Given the description of an element on the screen output the (x, y) to click on. 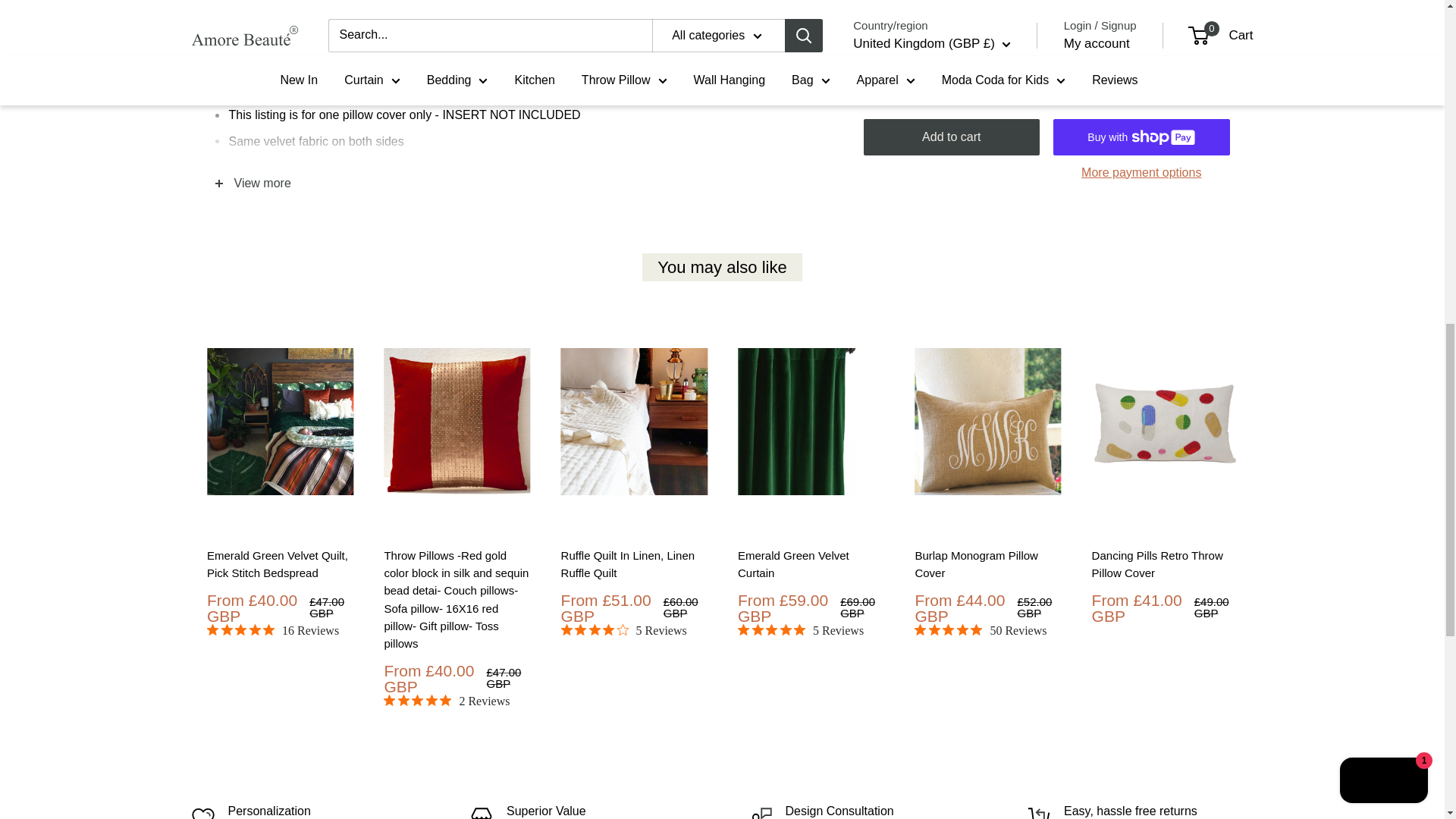
2 Reviews (446, 701)
50 Reviews (980, 631)
16 Reviews (271, 631)
5 Reviews (799, 631)
5 Reviews (622, 631)
